Given the description of an element on the screen output the (x, y) to click on. 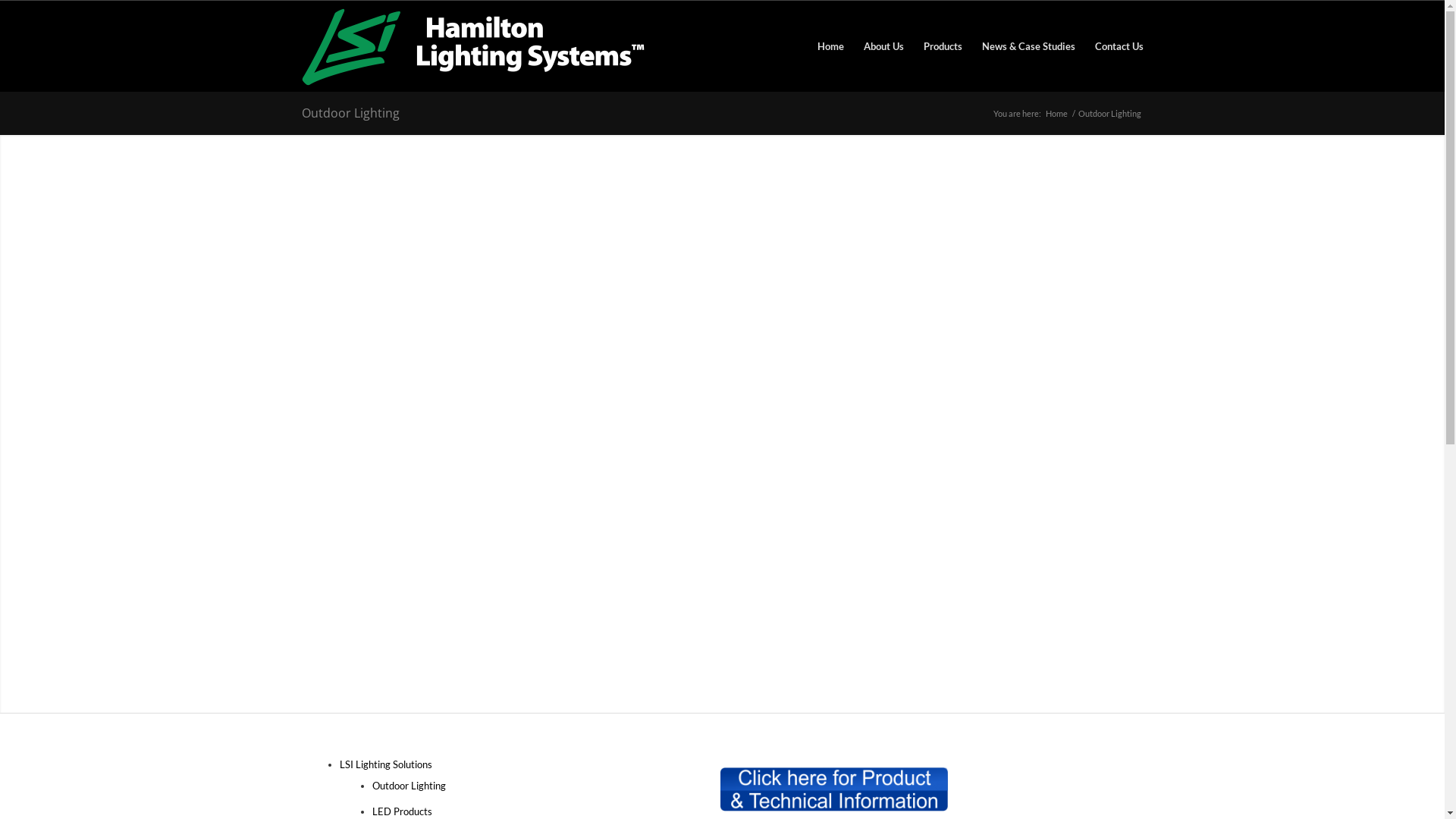
Outdoor Lighting Element type: text (408, 785)
Home Element type: text (1056, 113)
Contact Us Element type: text (1113, 45)
LED Products Element type: text (401, 811)
About Us Element type: text (883, 45)
Products Element type: text (942, 45)
Home Element type: text (829, 45)
Outdoor Lighting Element type: text (350, 112)
LSI Lighting Solutions Element type: text (385, 764)
News & Case Studies Element type: text (1028, 45)
